Given the description of an element on the screen output the (x, y) to click on. 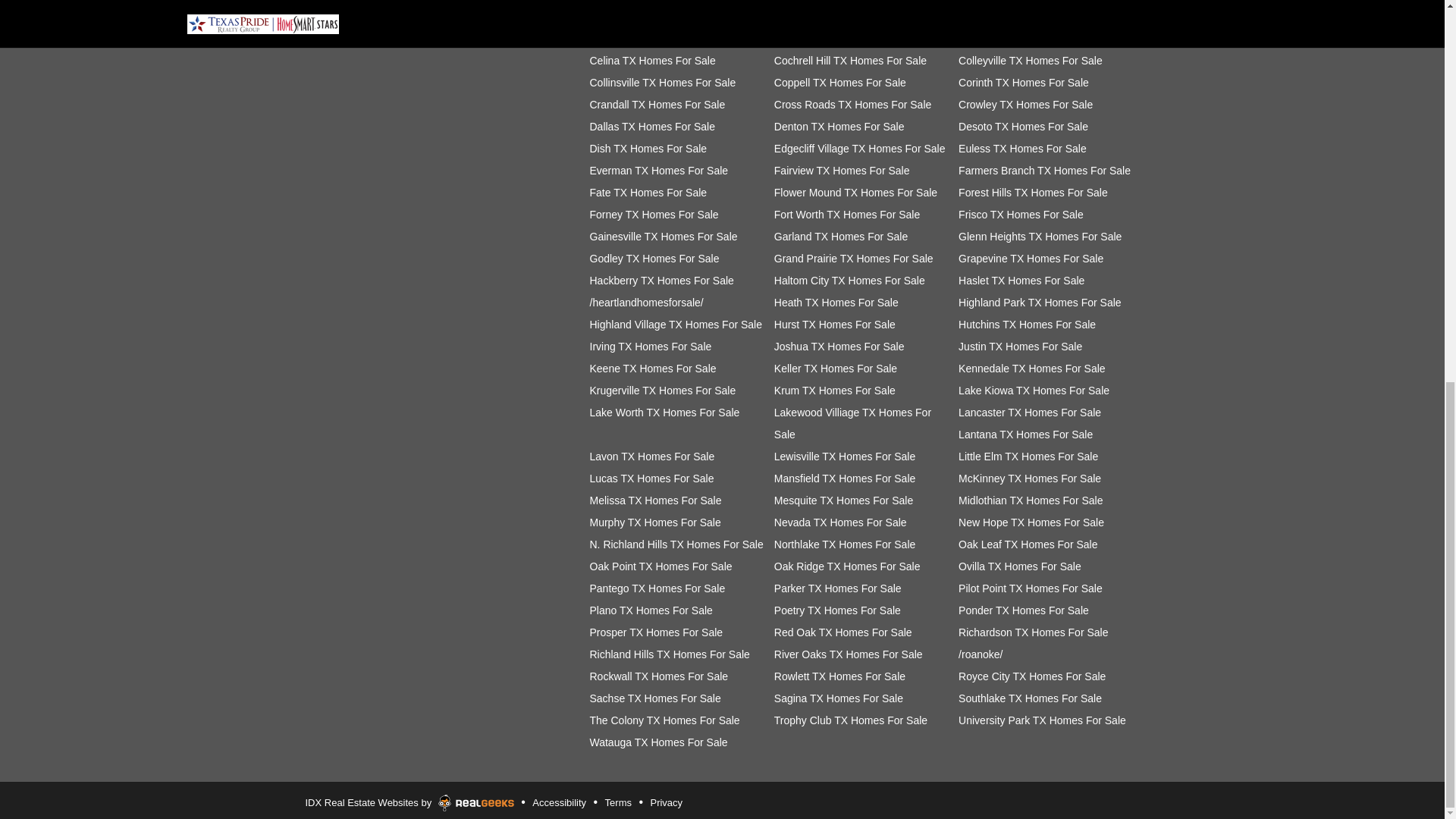
Carrollton TX Homes For Sale (844, 38)
Celina TX Homes For Sale (652, 60)
Colleyville TX Homes For Sale (1030, 60)
Bedford TX Homes For Sale (840, 16)
Cedar Hill TX Homes For Sale (1029, 38)
Benbrook TX Homes For Sale (1029, 16)
Burleson TX Homes For Sale (658, 38)
Cochrell Hill TX Homes For Sale (850, 60)
